Given the description of an element on the screen output the (x, y) to click on. 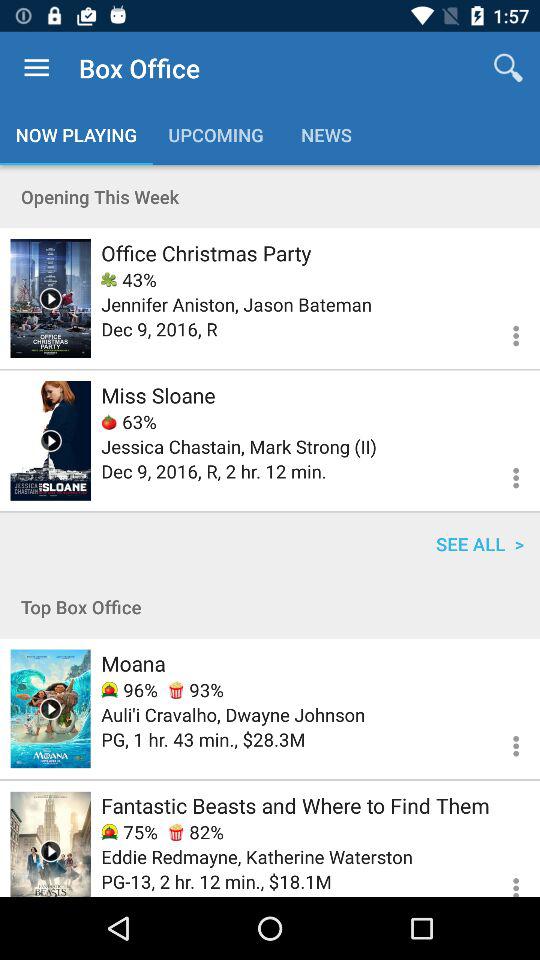
watch video (50, 440)
